Given the description of an element on the screen output the (x, y) to click on. 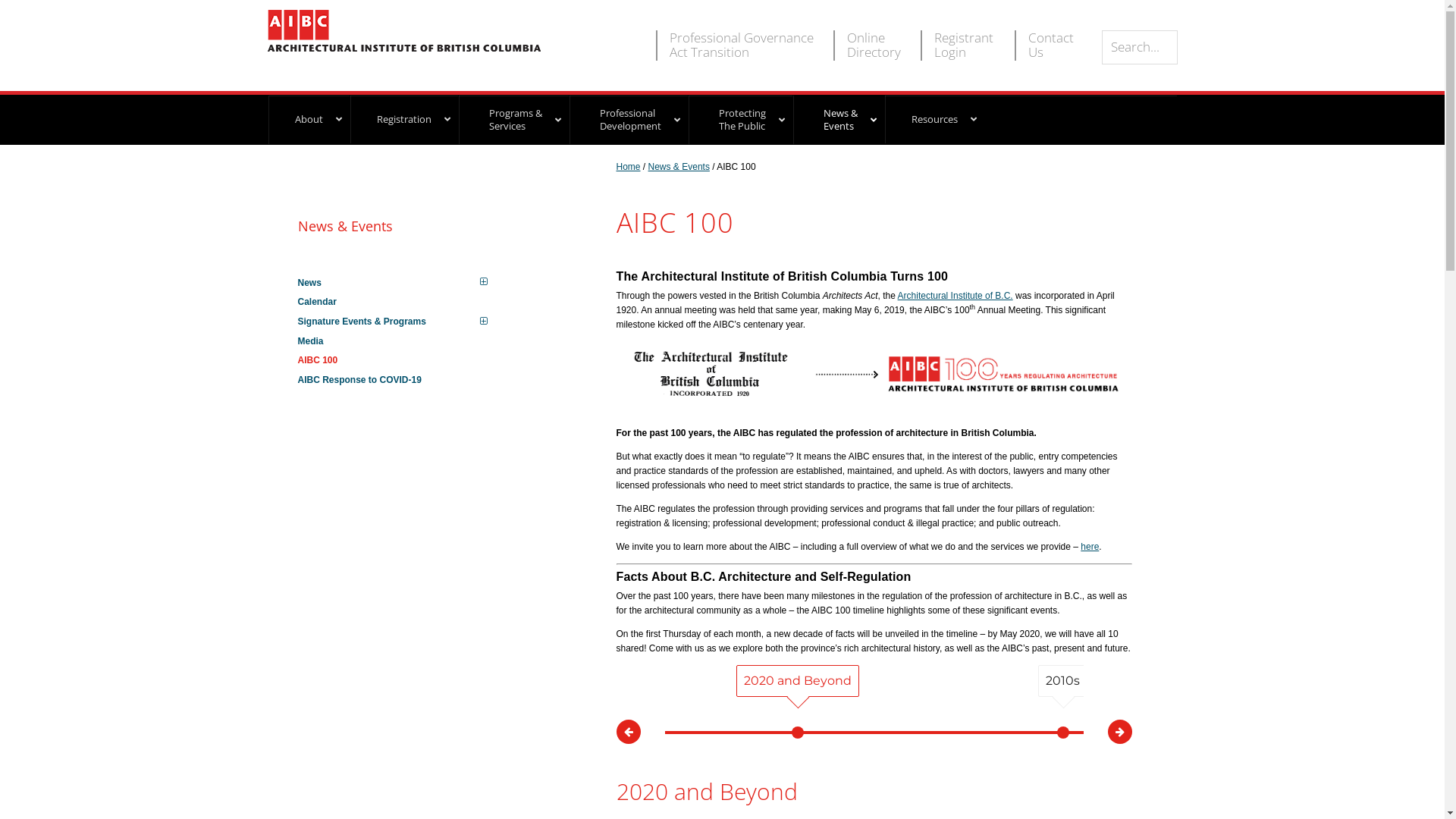
News & Events Element type: text (403, 225)
AIBC Response to COVID-19 Element type: text (403, 380)
News &
Events Element type: text (837, 119)
Home Element type: text (627, 166)
2010s Element type: text (1062, 680)
AIBC Element type: text (402, 30)
Architectural Institute of B.C. Element type: text (955, 295)
Registrant
Login Element type: text (958, 45)
About Element type: text (308, 119)
Resources Element type: text (934, 119)
News & Events Element type: text (678, 166)
Signature Events & Programs Element type: text (403, 322)
Search Element type: text (1176, 29)
Media Element type: text (403, 341)
Registration Element type: text (402, 119)
2020 and Beyond Element type: text (796, 680)
Calendar Element type: text (403, 302)
here Element type: text (1089, 546)
Online
Directory Element type: text (867, 45)
Contact Us Element type: text (1048, 45)
Programs &
Services Element type: text (513, 119)
Professional Governance Act Transition Element type: text (735, 45)
Protecting
The Public Element type: text (739, 119)
Professional
Development Element type: text (627, 119)
AIBC 100 Element type: text (403, 360)
News Element type: text (403, 283)
